Given the description of an element on the screen output the (x, y) to click on. 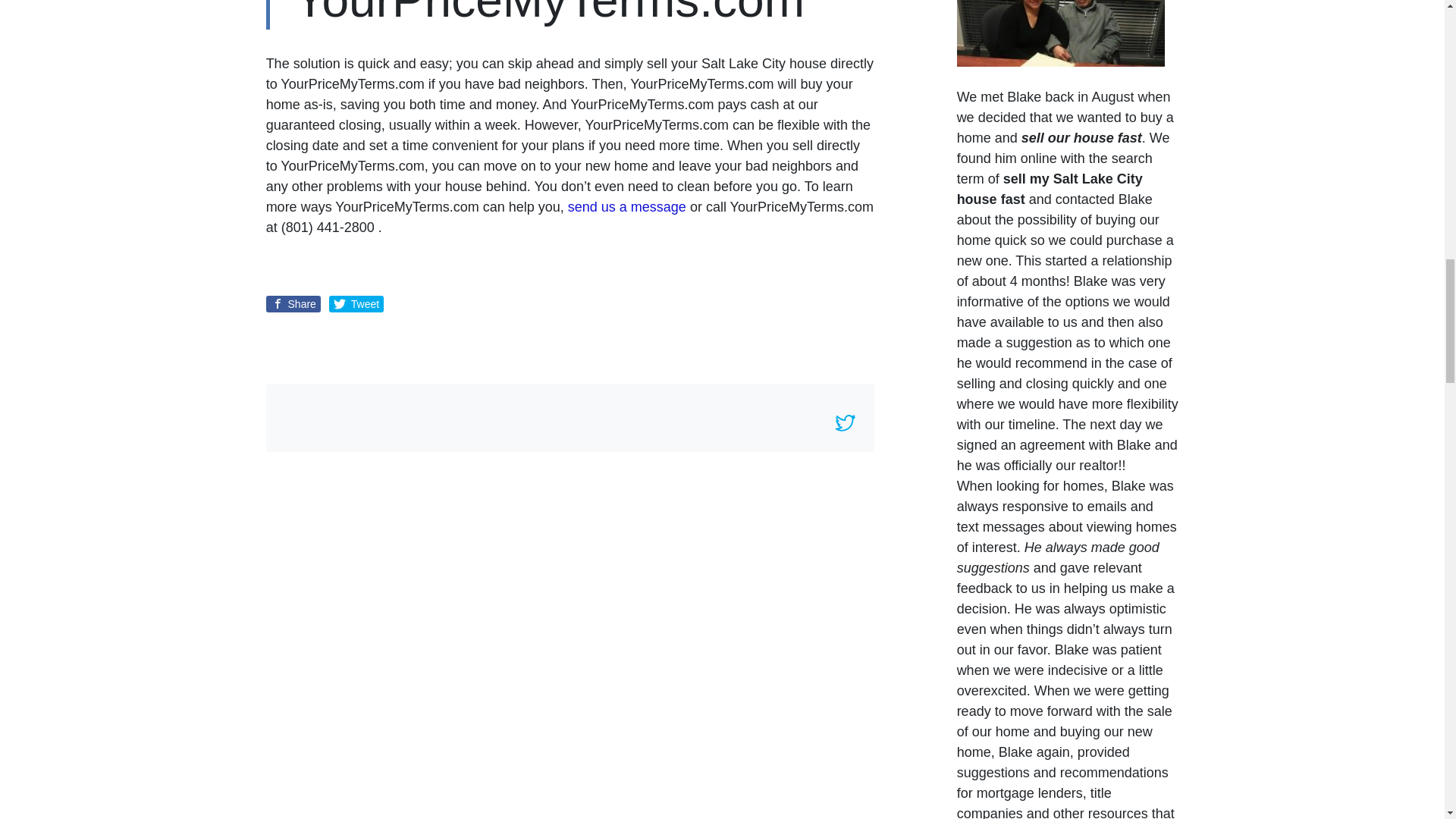
Share on Facebook (293, 303)
send us a message (626, 206)
Share (293, 303)
Tweet (356, 303)
Twitter (845, 422)
Share on Twitter (356, 303)
